Given the description of an element on the screen output the (x, y) to click on. 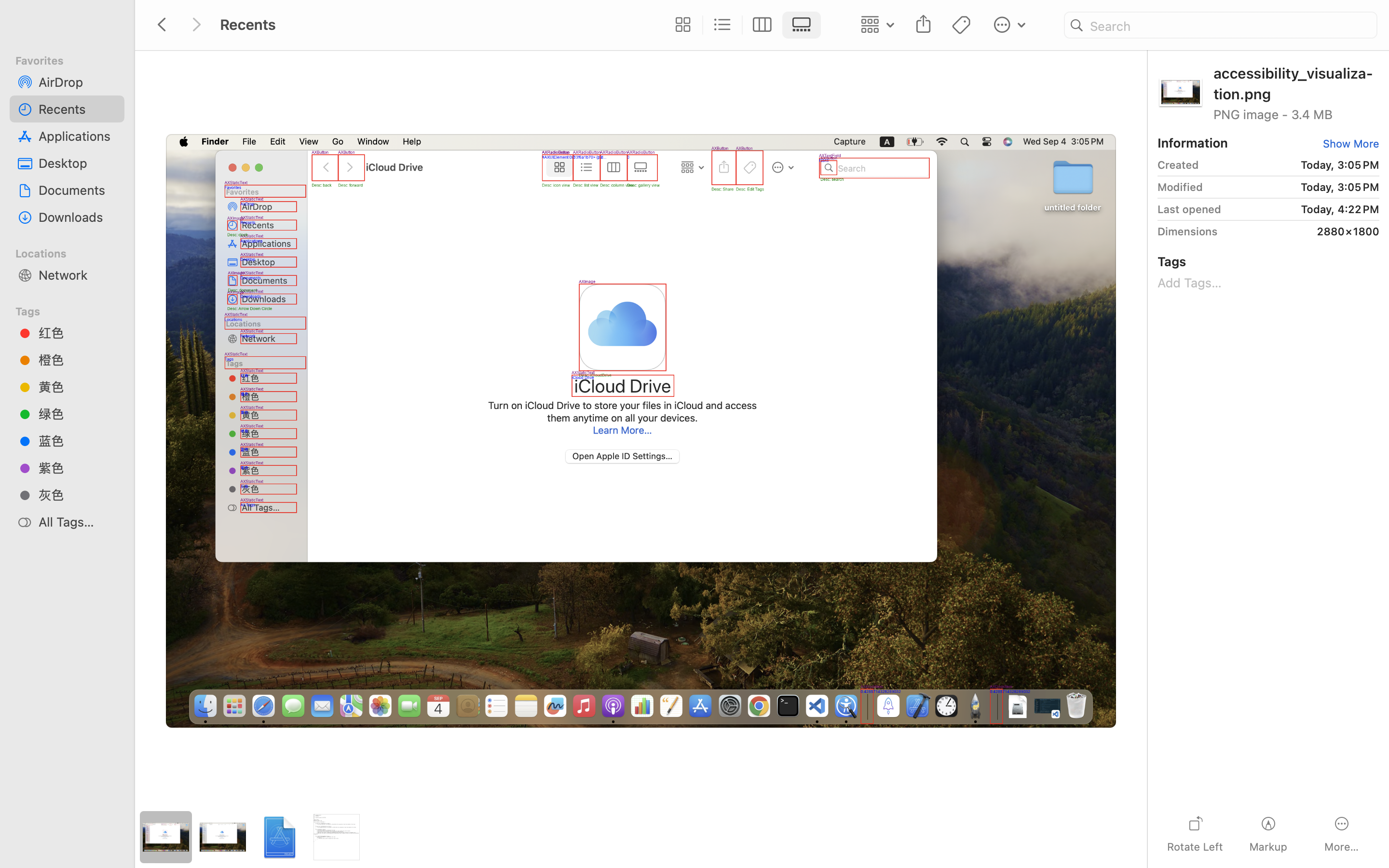
<AXUIElement 0x141ee0440> {pid=510} Element type: AXRadioGroup (741, 24)
Recents Element type: AXStaticText (437, 827)
蓝色 Element type: AXStaticText (77, 440)
橙色 Element type: AXStaticText (77, 359)
2880 × 1800 Element type: AXStaticText (1301, 231)
